Given the description of an element on the screen output the (x, y) to click on. 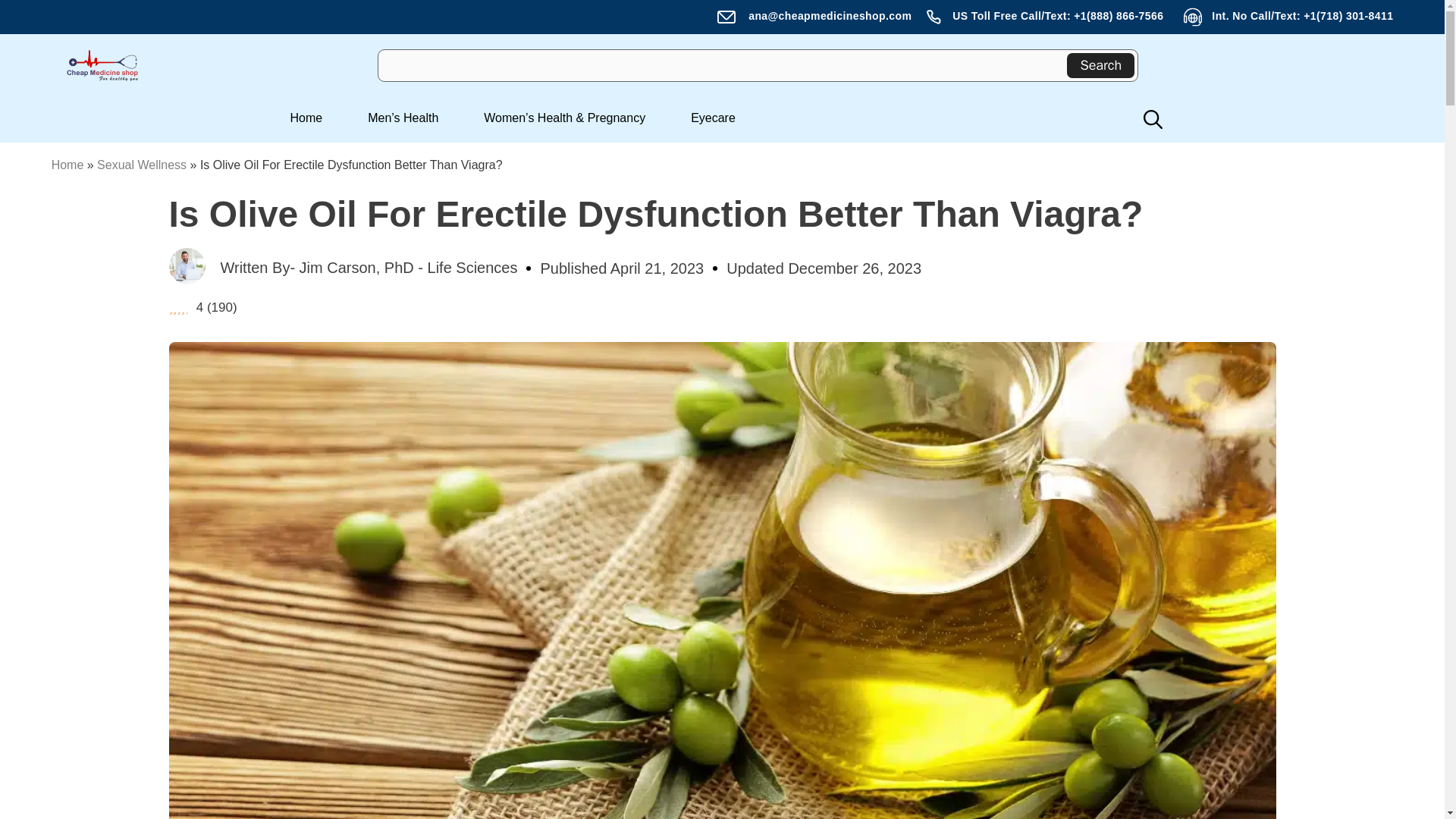
Search (1100, 65)
